Given the description of an element on the screen output the (x, y) to click on. 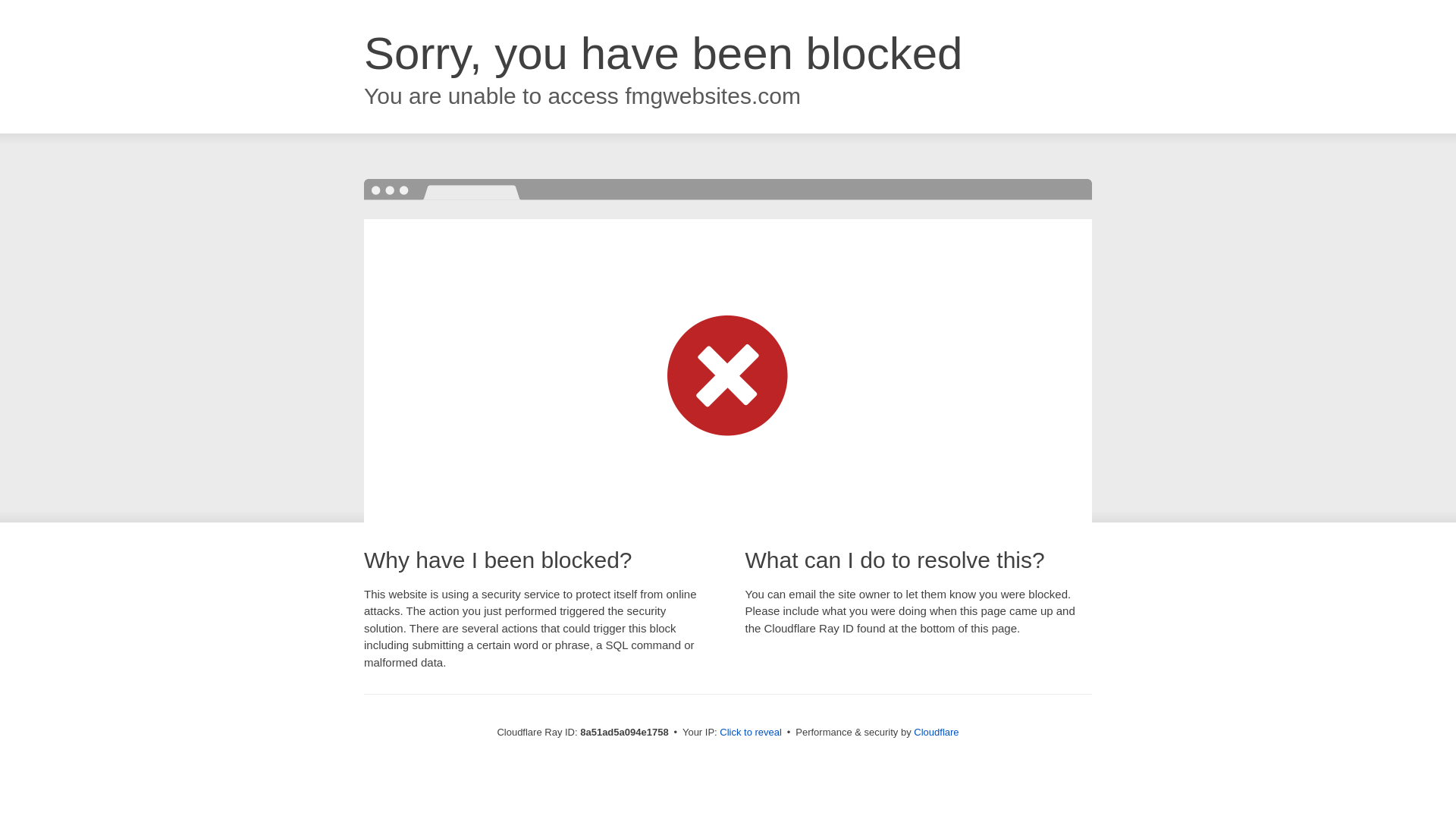
Cloudflare (936, 731)
Click to reveal (750, 732)
